Given the description of an element on the screen output the (x, y) to click on. 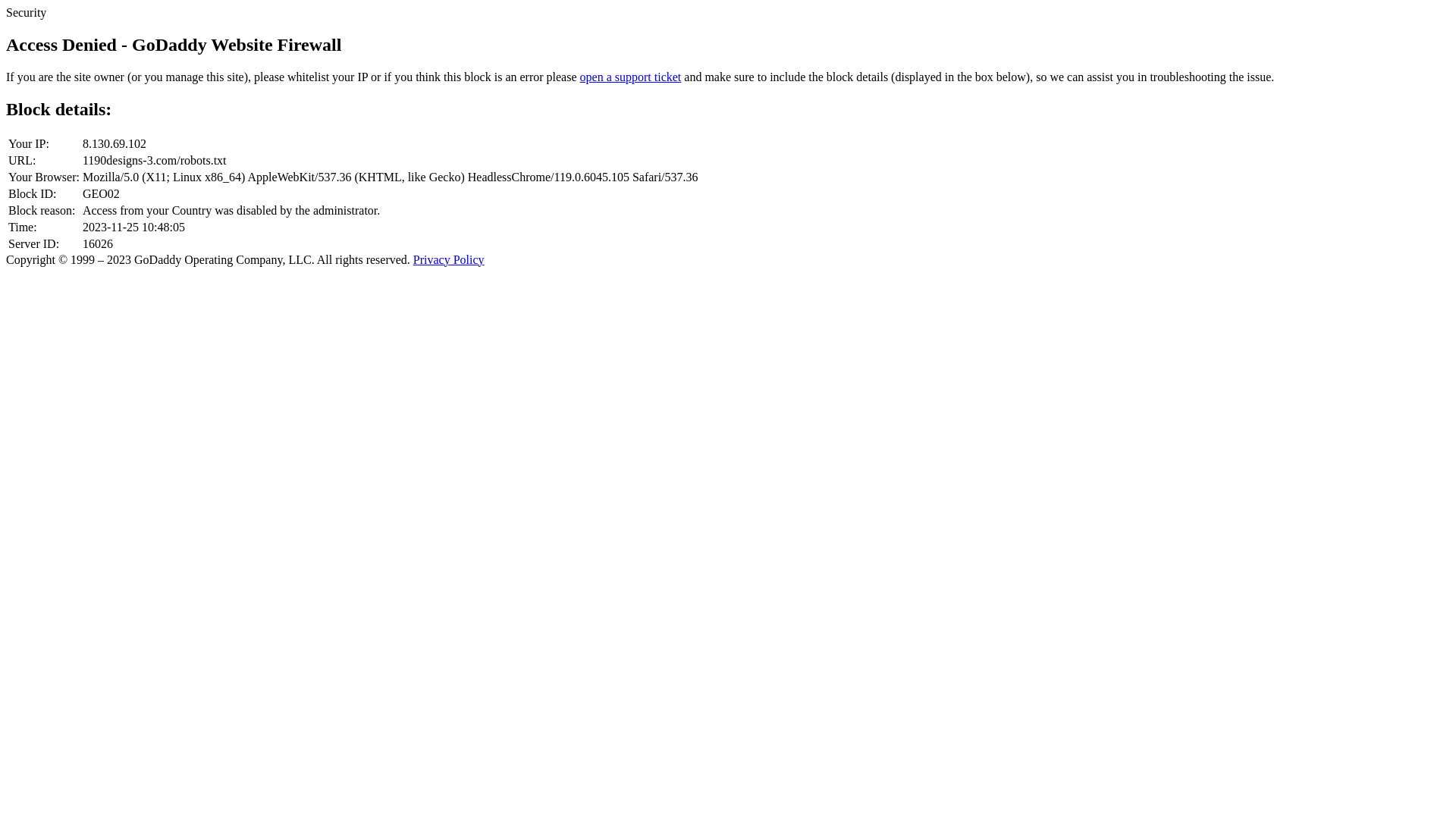
open a support ticket Element type: text (630, 76)
Privacy Policy Element type: text (448, 259)
